Given the description of an element on the screen output the (x, y) to click on. 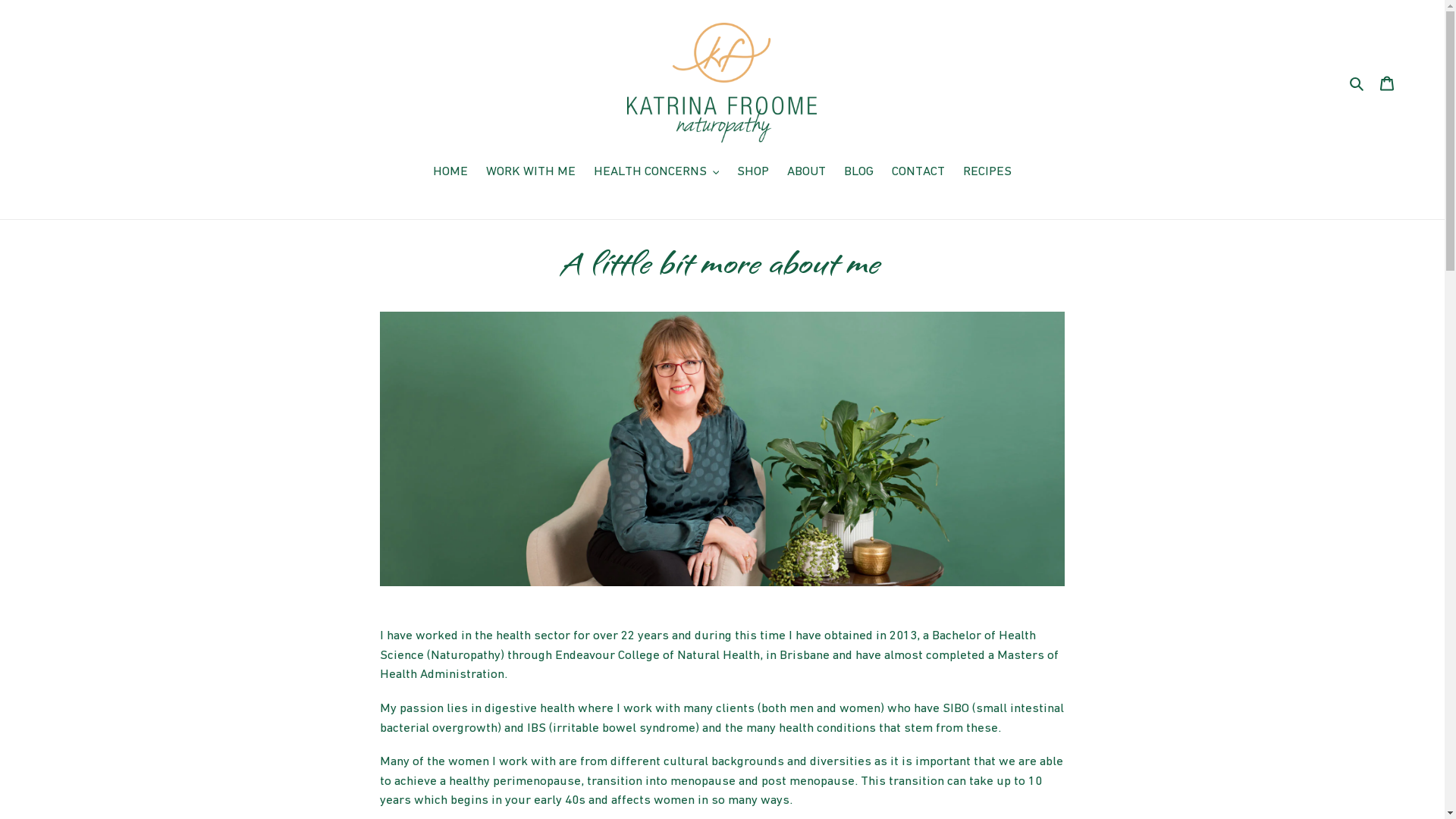
WORK WITH ME Element type: text (530, 172)
HEALTH CONCERNS Element type: text (656, 172)
HOME Element type: text (450, 172)
CONTACT Element type: text (918, 172)
SHOP Element type: text (752, 172)
ABOUT Element type: text (806, 172)
RECIPES Element type: text (987, 172)
BLOG Element type: text (858, 172)
Search Element type: text (1357, 82)
Cart Element type: text (1386, 82)
